Given the description of an element on the screen output the (x, y) to click on. 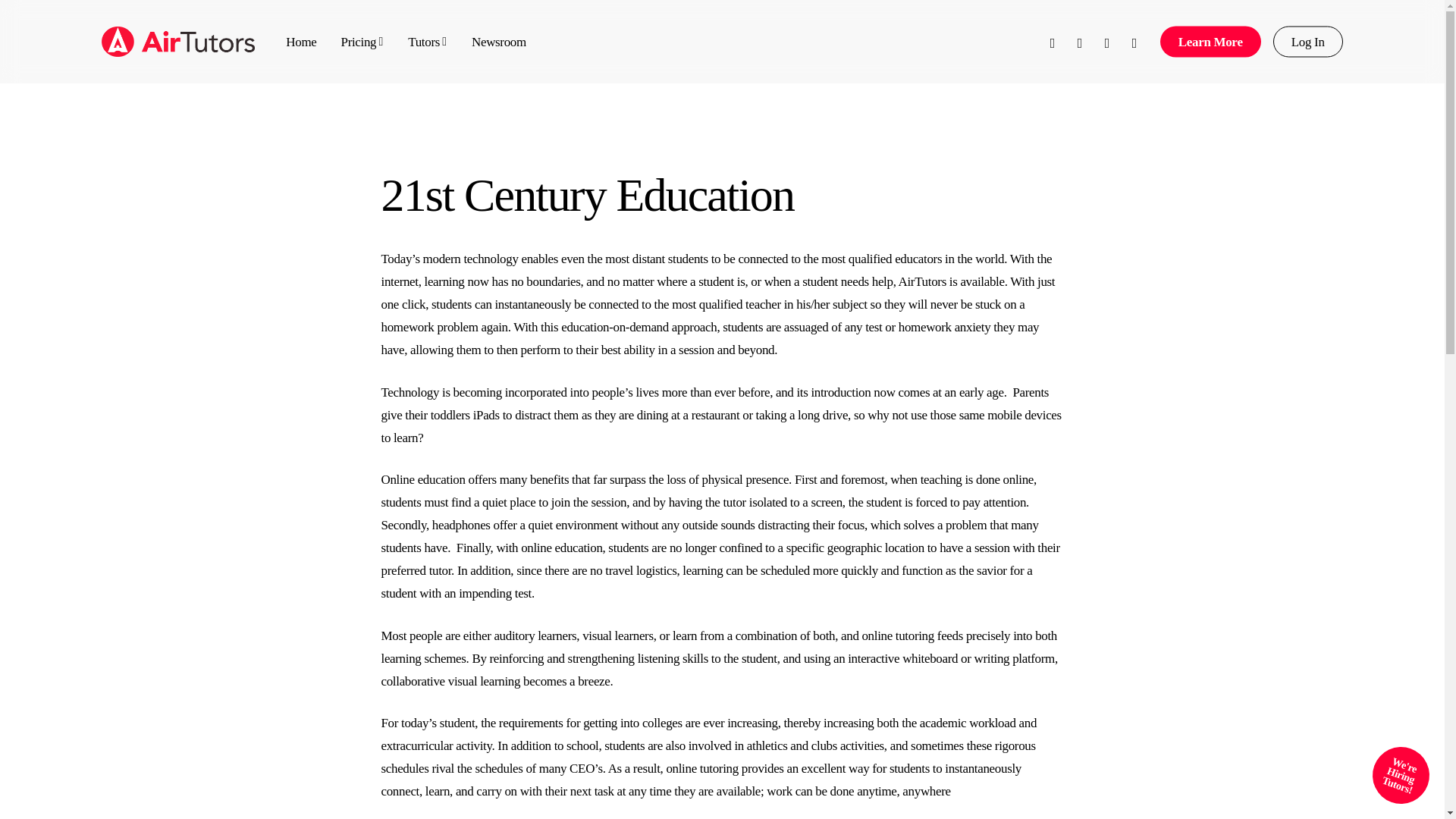
email (1134, 40)
Tutors (426, 41)
We're Hiring Tutors! (1392, 766)
twitter (1052, 40)
facebook (1079, 40)
Newsroom (498, 41)
Pricing (362, 41)
Home (300, 41)
Learn More (1210, 40)
linkedin (1107, 40)
